Given the description of an element on the screen output the (x, y) to click on. 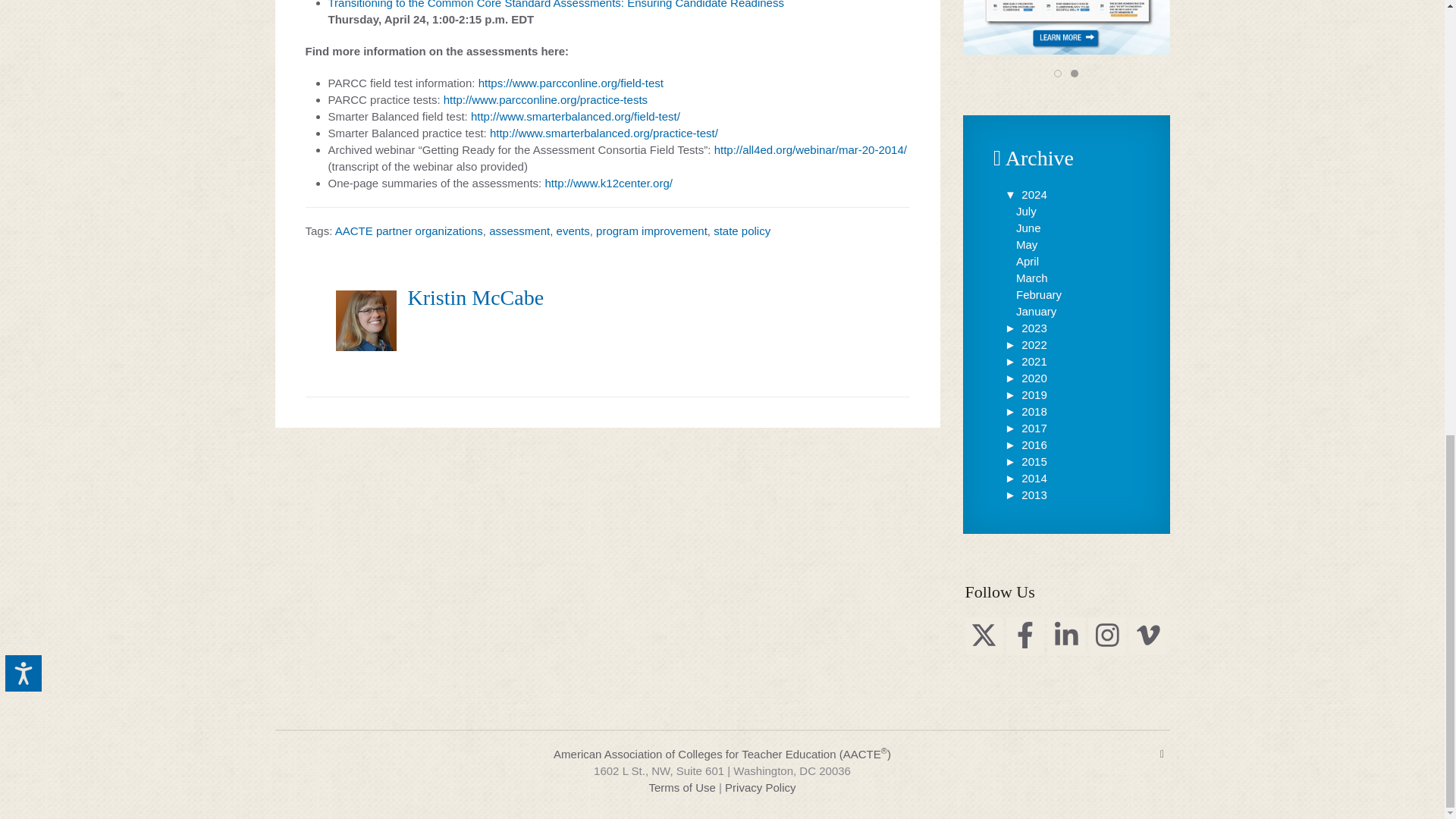
2023 (1025, 327)
March (1032, 277)
July (1026, 210)
June (1028, 227)
May (1026, 244)
February (1038, 294)
2024 (1025, 194)
January (1036, 310)
April (1027, 260)
